Given the description of an element on the screen output the (x, y) to click on. 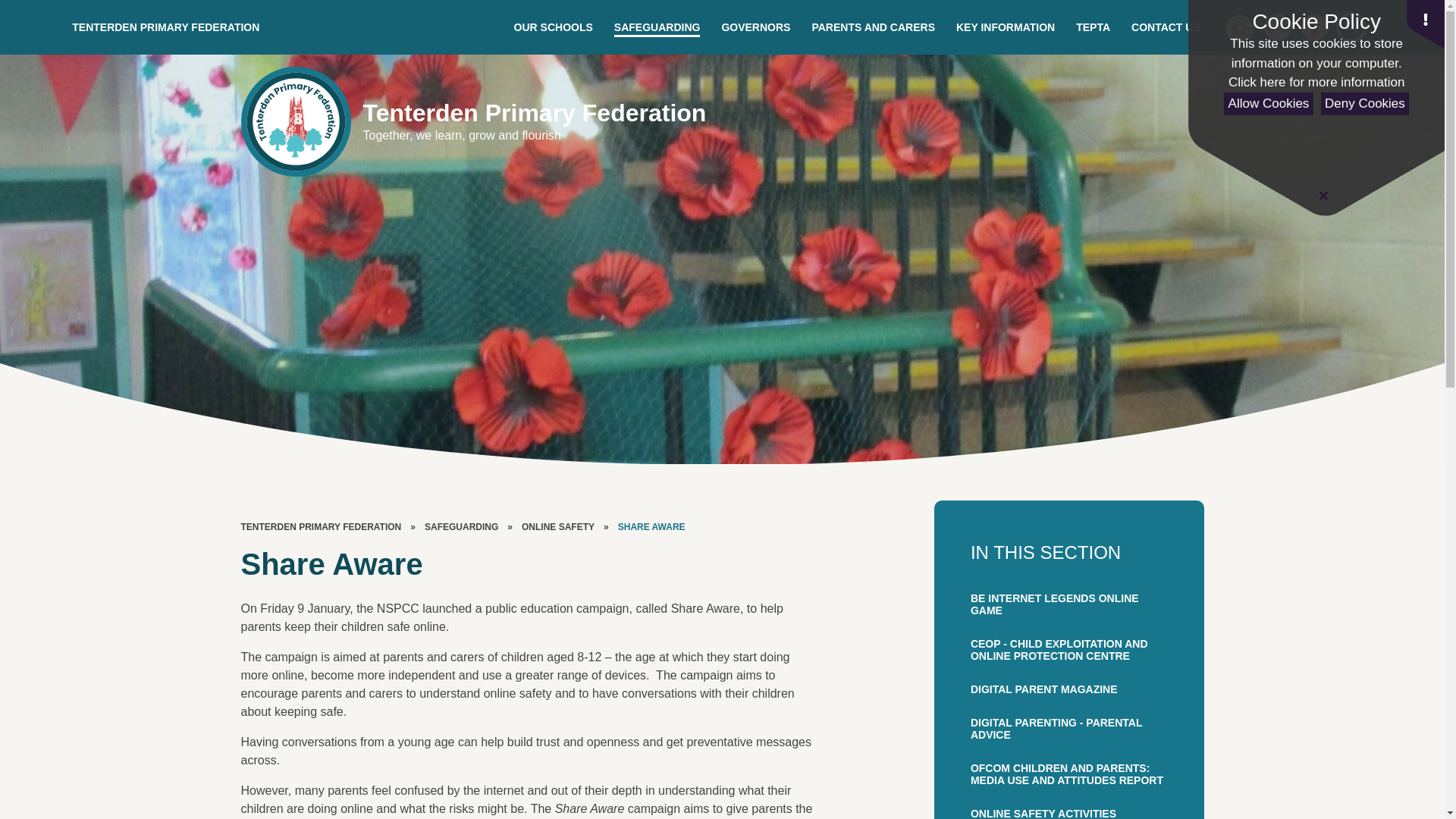
Tenterden Church of England Junior School (1314, 27)
Allow Cookies (1268, 104)
Tenterden Infant School (1277, 27)
Deny Cookies (1364, 104)
See cookie policy (1316, 82)
Visit Tenterton Schools Trust (1239, 27)
